Given the description of an element on the screen output the (x, y) to click on. 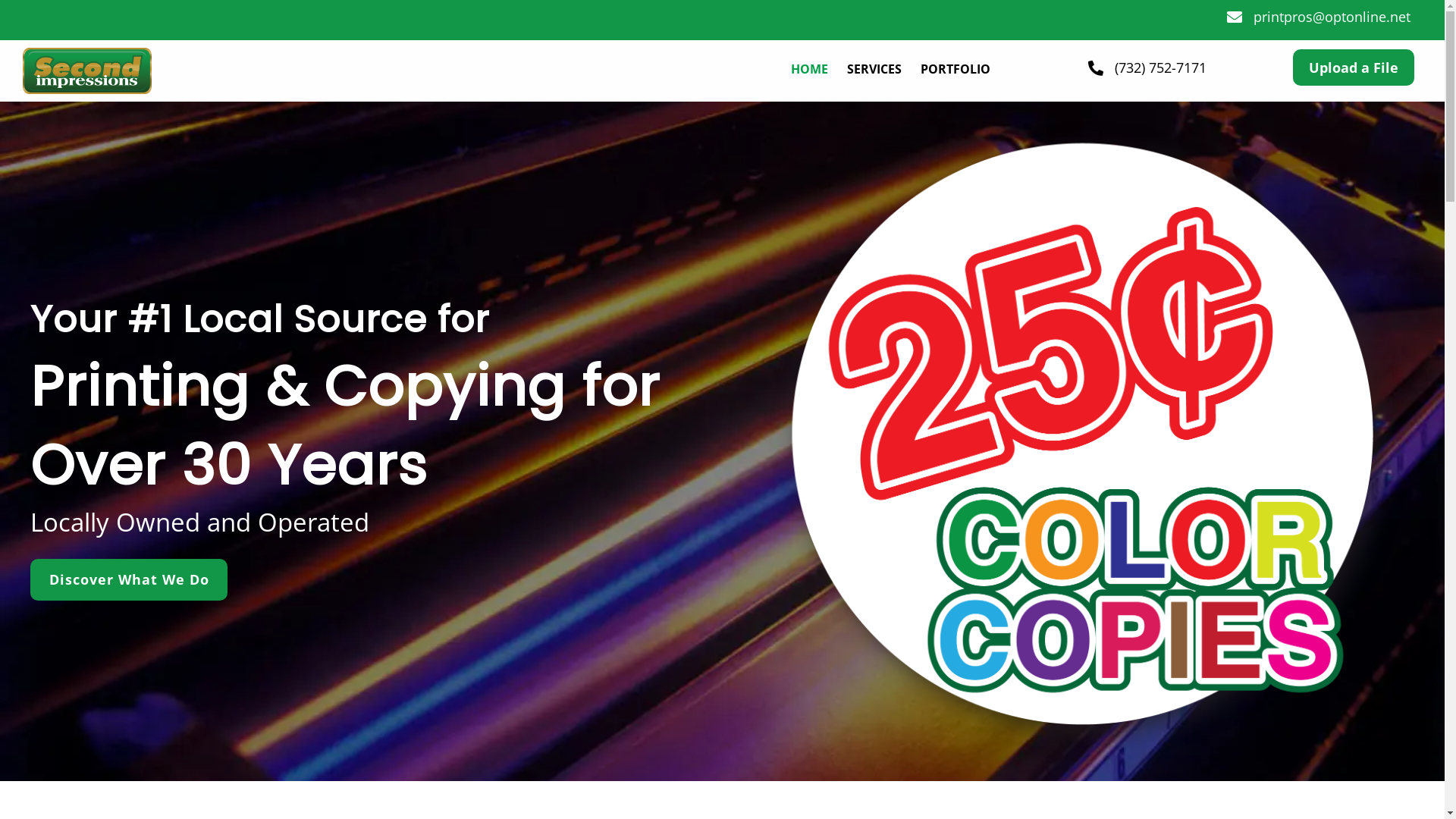
25cent Element type: hover (1089, 440)
printpros@optonline.net Element type: text (1331, 16)
SI-LOGO-Big Element type: hover (86, 70)
(732) 752-7171 Element type: text (1160, 67)
HOME Element type: text (809, 69)
Discover What We Do Element type: text (128, 579)
PORTFOLIO Element type: text (955, 69)
SERVICES Element type: text (874, 69)
Upload a File Element type: text (1353, 67)
